Given the description of an element on the screen output the (x, y) to click on. 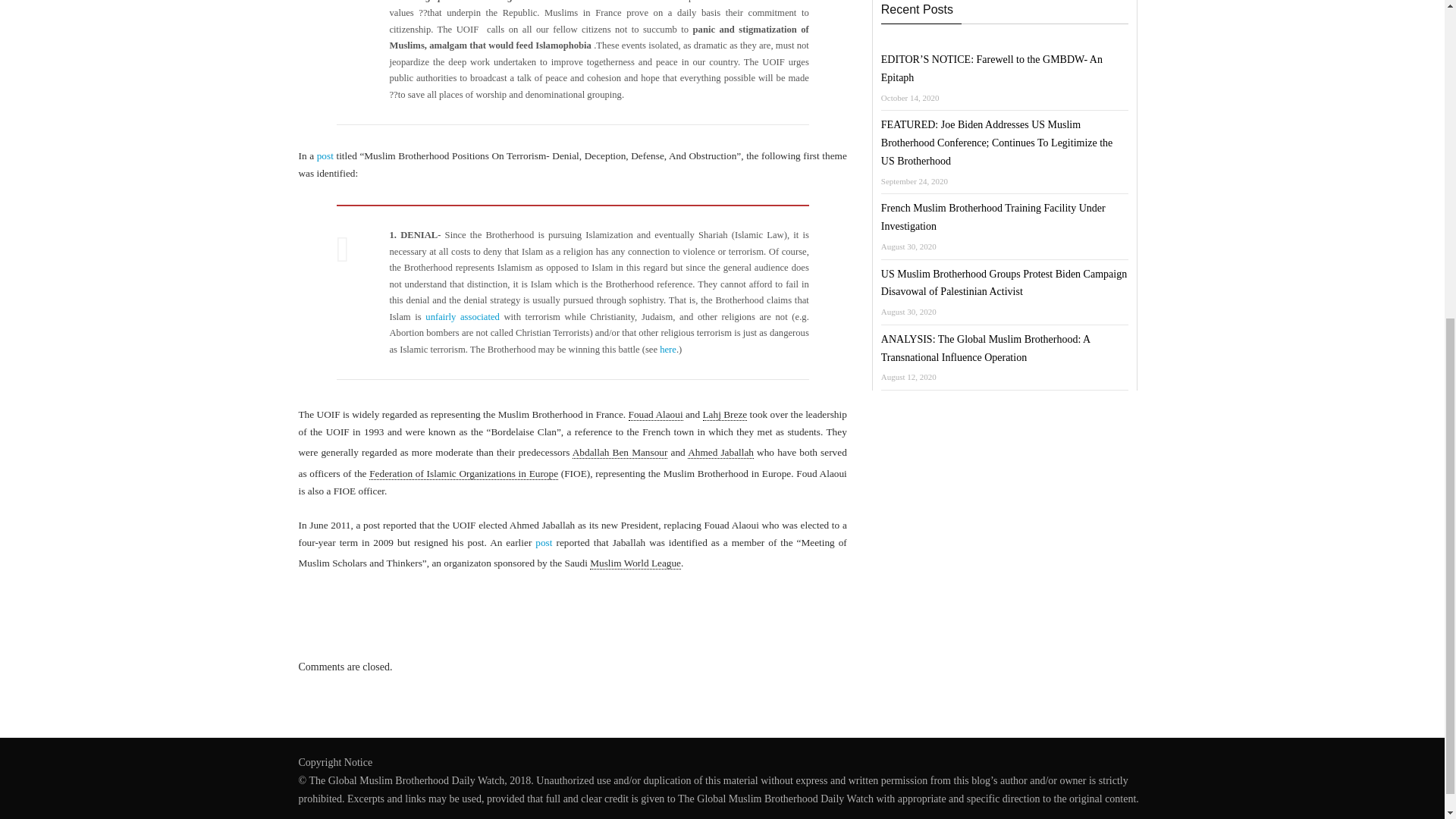
Lahj Breze (723, 414)
post (543, 542)
unfairly associated (462, 317)
Fouad Alaoui (655, 414)
post (325, 155)
Muslim World League (635, 563)
Abdallah Ben Mansour (620, 452)
Federation of Islamic Organizations in Europe (463, 473)
Ahmed Jaballah (720, 452)
here (668, 348)
